Given the description of an element on the screen output the (x, y) to click on. 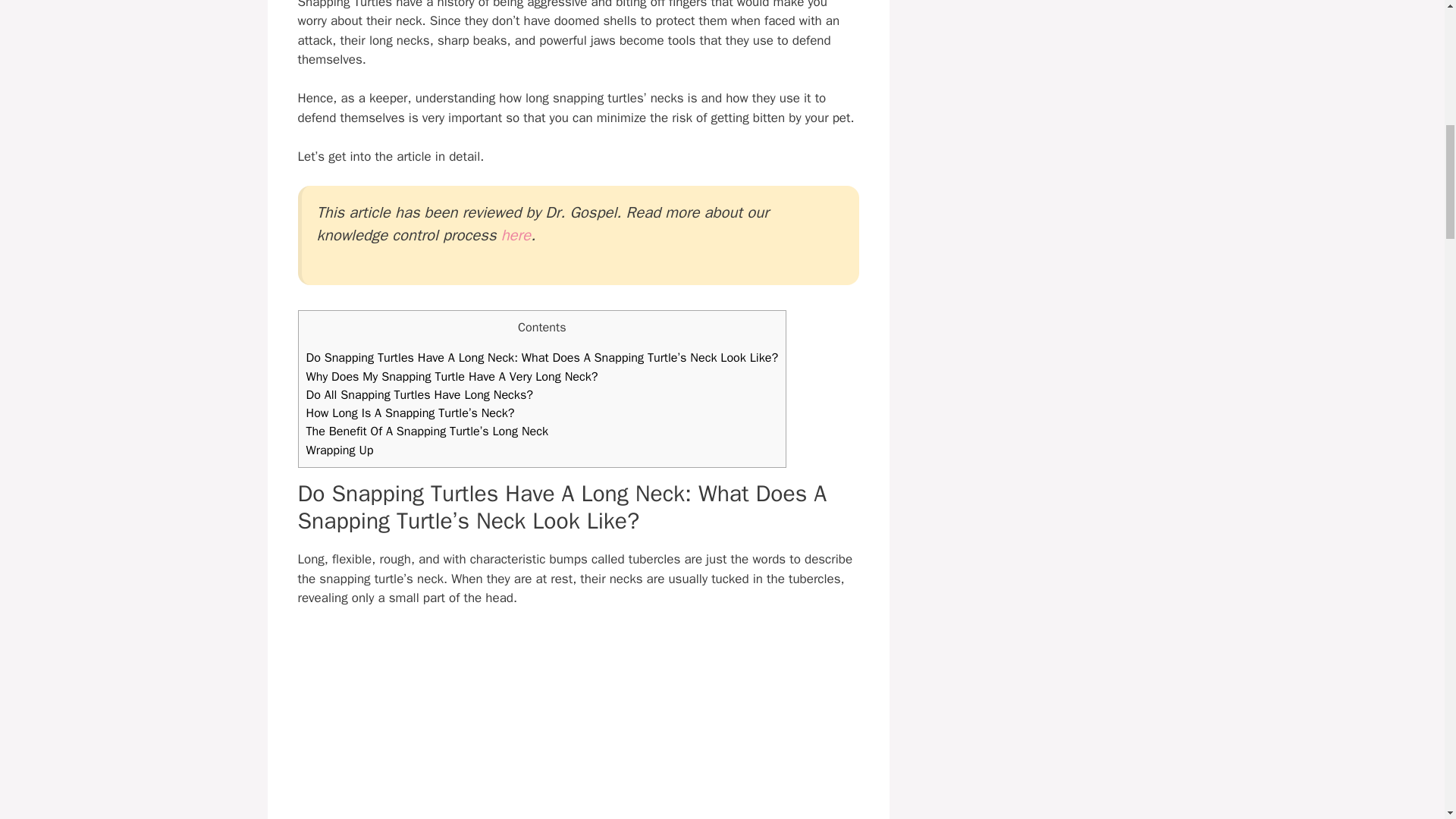
here (515, 234)
Do All Snapping Turtles Have Long Necks? (419, 394)
Wrapping Up (339, 449)
Why Does My Snapping Turtle Have A Very Long Neck? (451, 376)
